Given the description of an element on the screen output the (x, y) to click on. 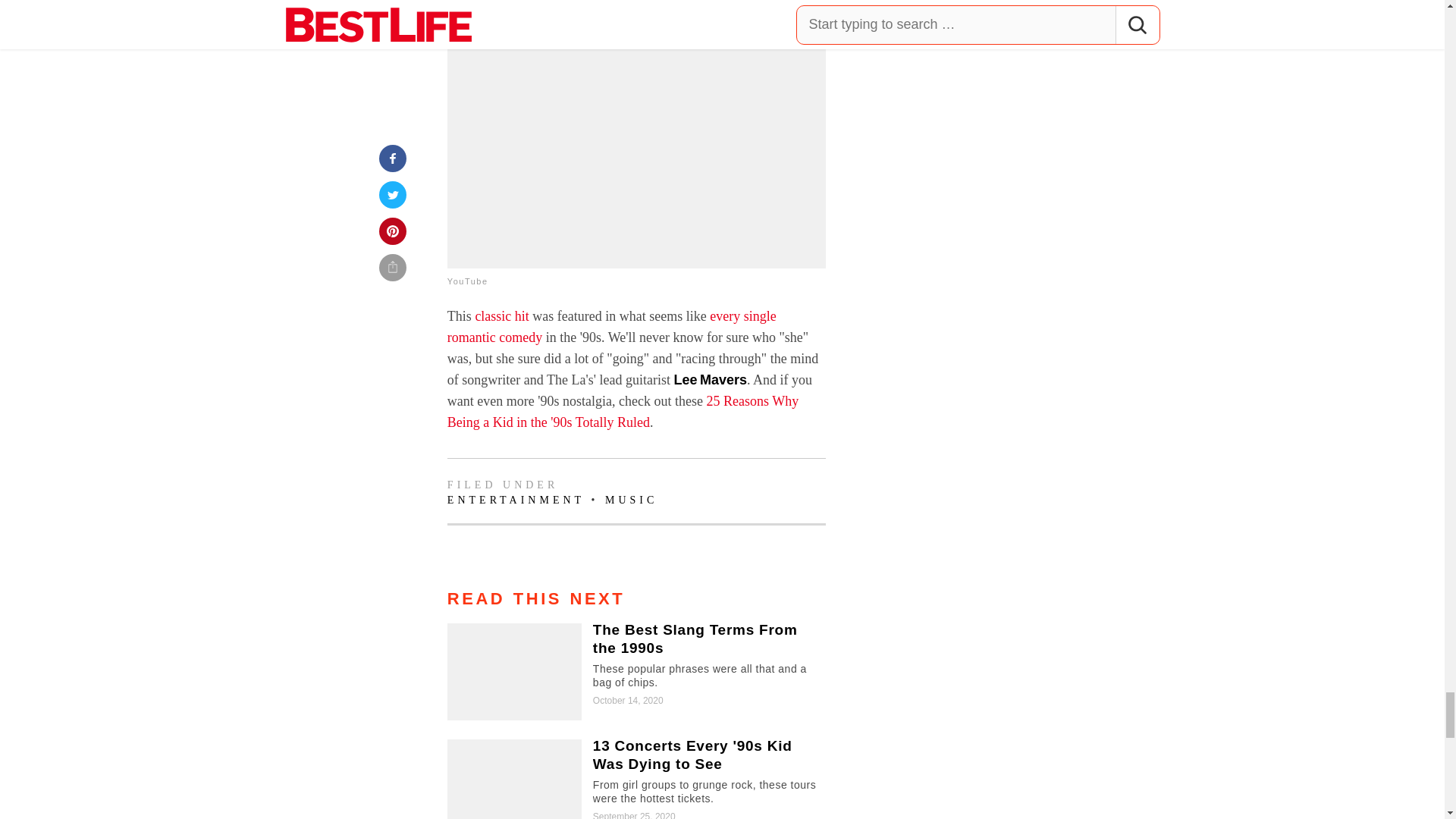
13 Concerts Every '90s Kid Was Dying to See (635, 779)
The Best Slang Terms From the 1990s (635, 671)
